Given the description of an element on the screen output the (x, y) to click on. 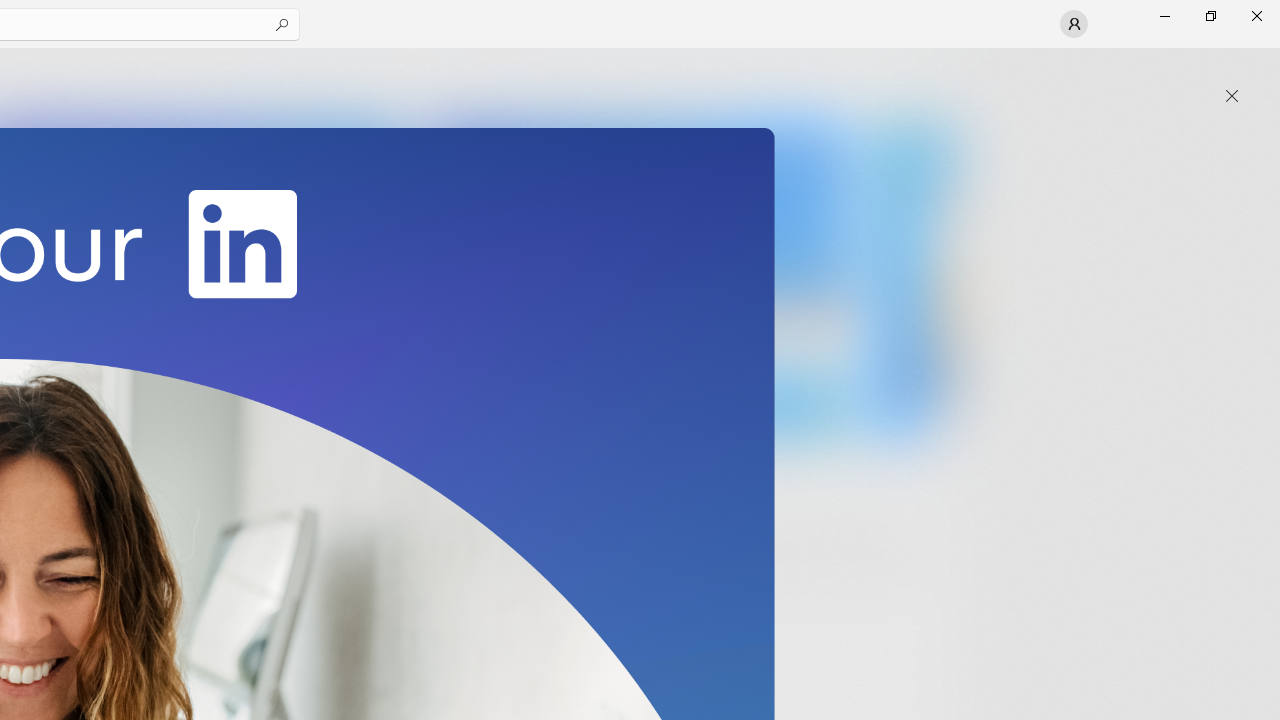
Screenshot 3 (636, 279)
Screenshot 4 (912, 279)
See all (924, 72)
close popup window (1232, 95)
